Given the description of an element on the screen output the (x, y) to click on. 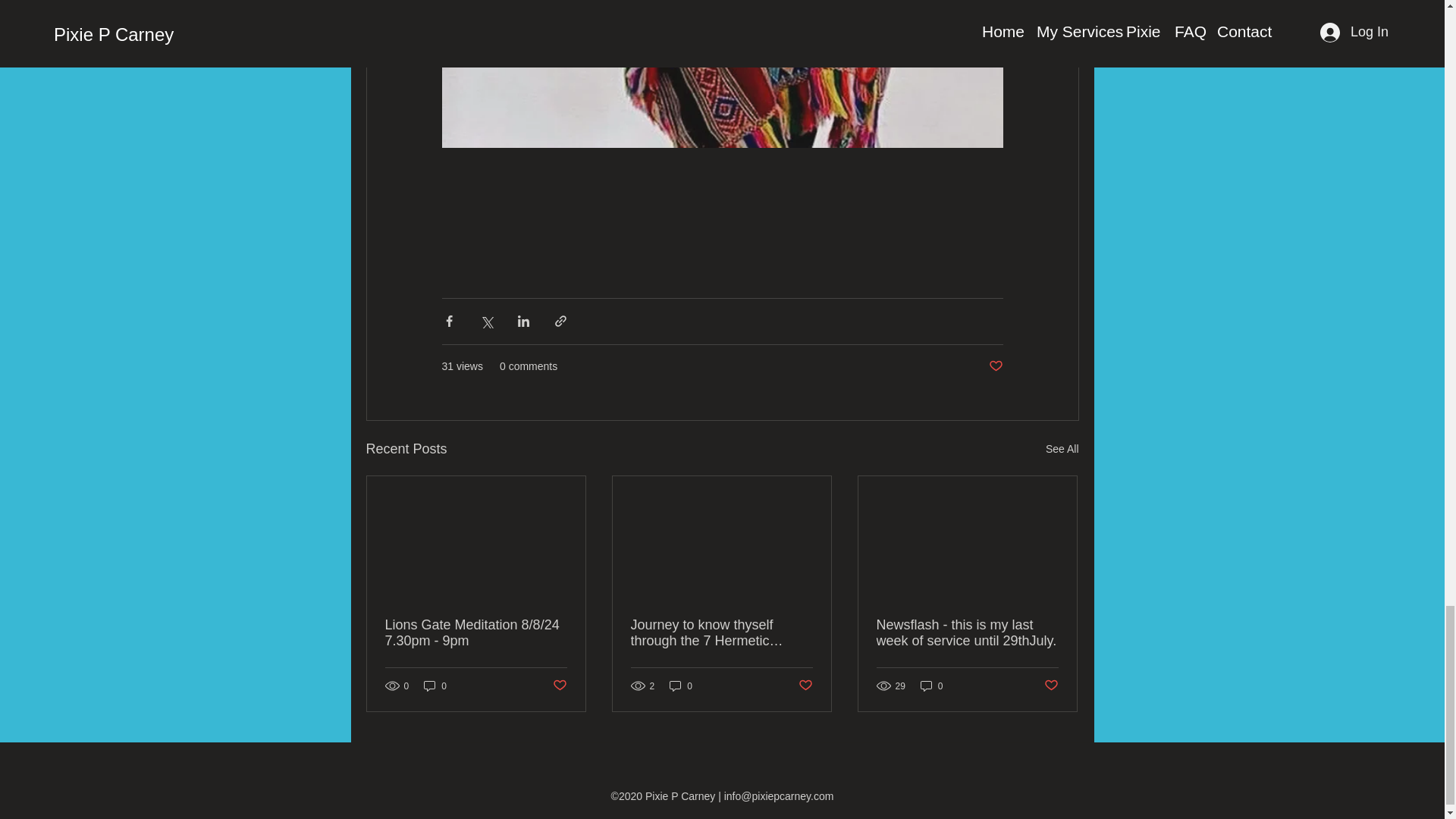
Journey to know thyself through the 7 Hermetic Principles (721, 633)
Post not marked as liked (804, 685)
See All (1061, 449)
Newsflash - this is my last week of service until 29thJuly. (967, 633)
0 (681, 685)
Post not marked as liked (1050, 685)
Post not marked as liked (995, 366)
0 (435, 685)
0 (931, 685)
Post not marked as liked (558, 685)
